Given the description of an element on the screen output the (x, y) to click on. 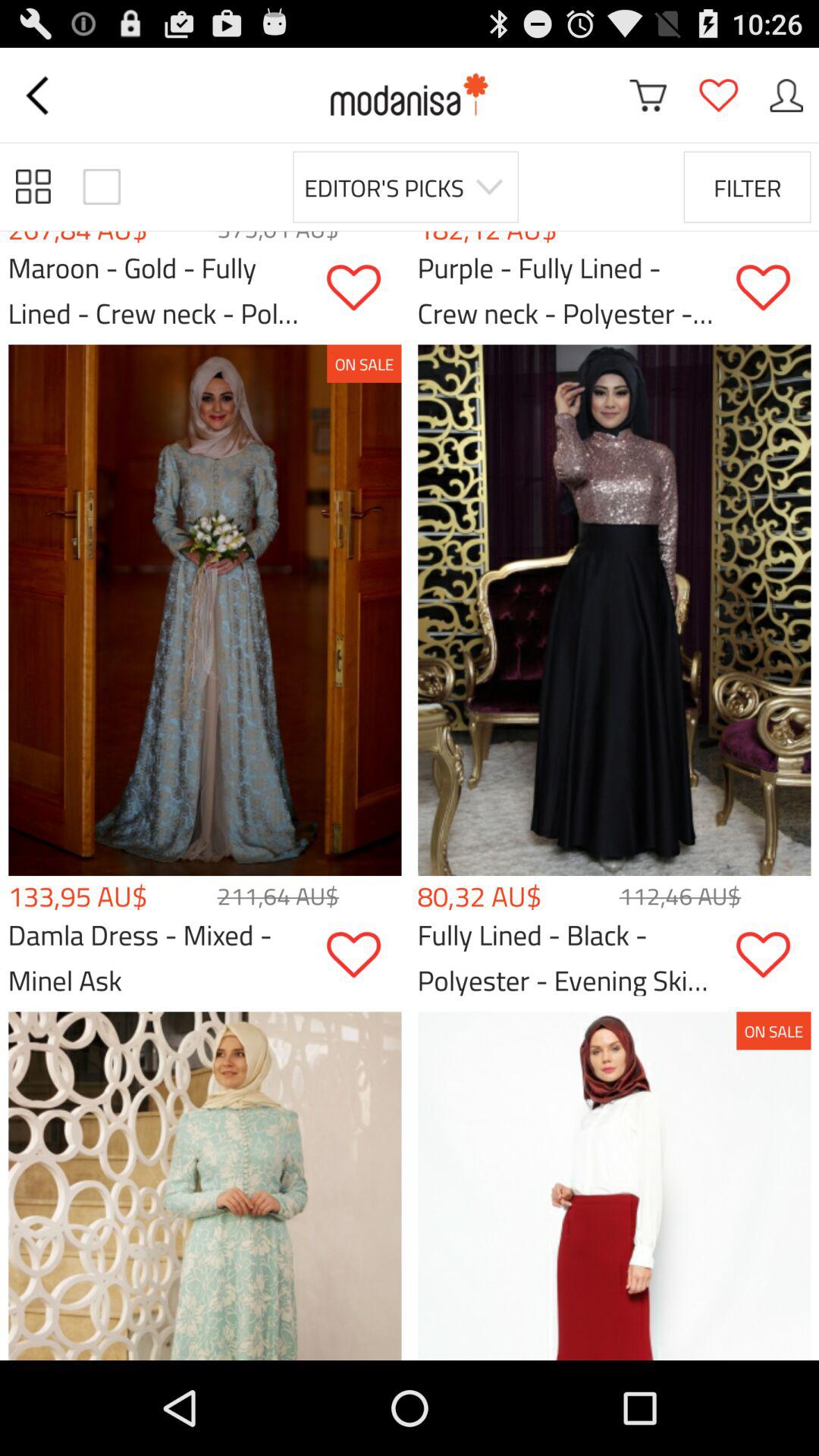
select editor's picks (405, 186)
